Given the description of an element on the screen output the (x, y) to click on. 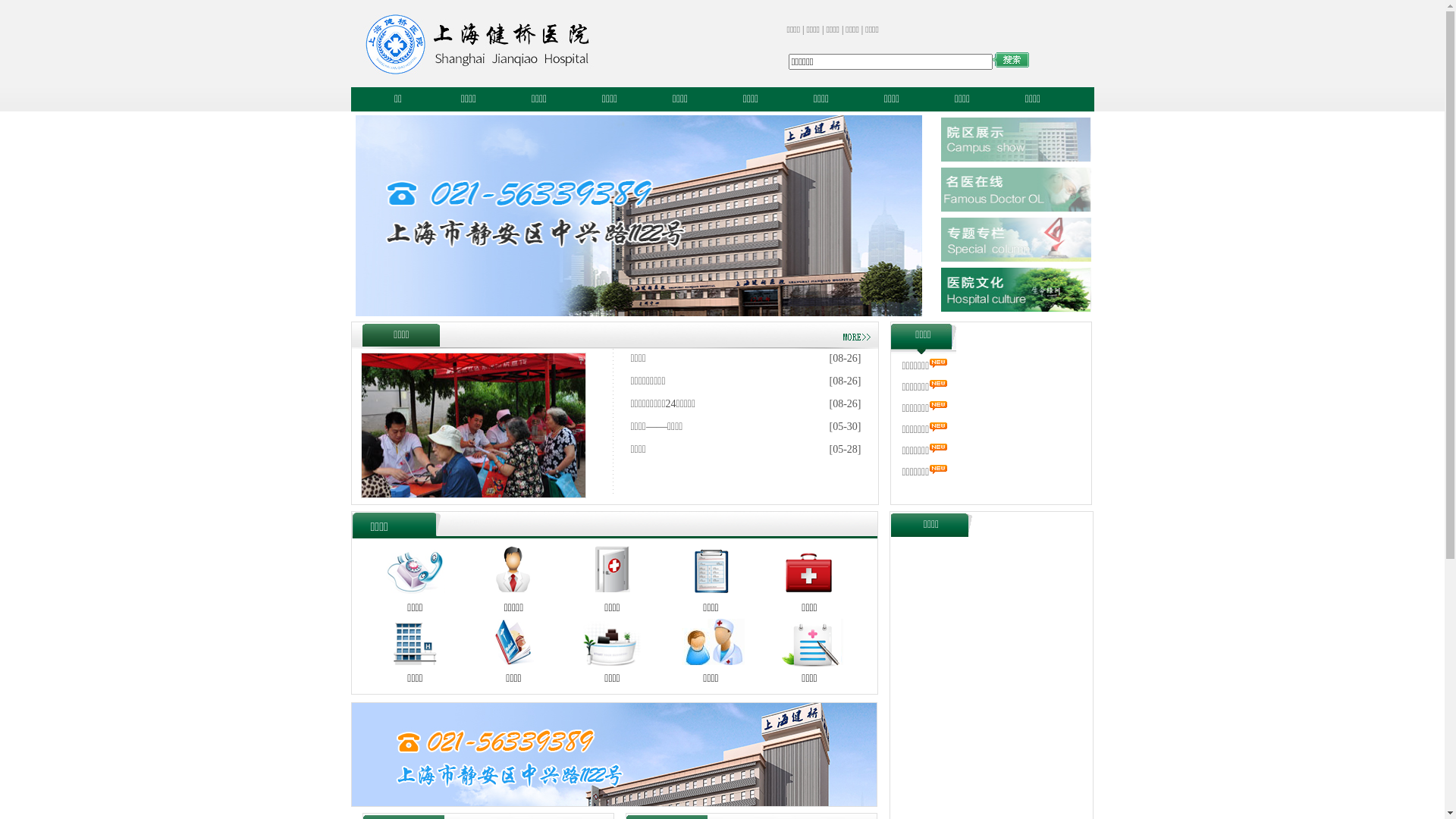
Booklet Printing Element type: text (472, 522)
